Given the description of an element on the screen output the (x, y) to click on. 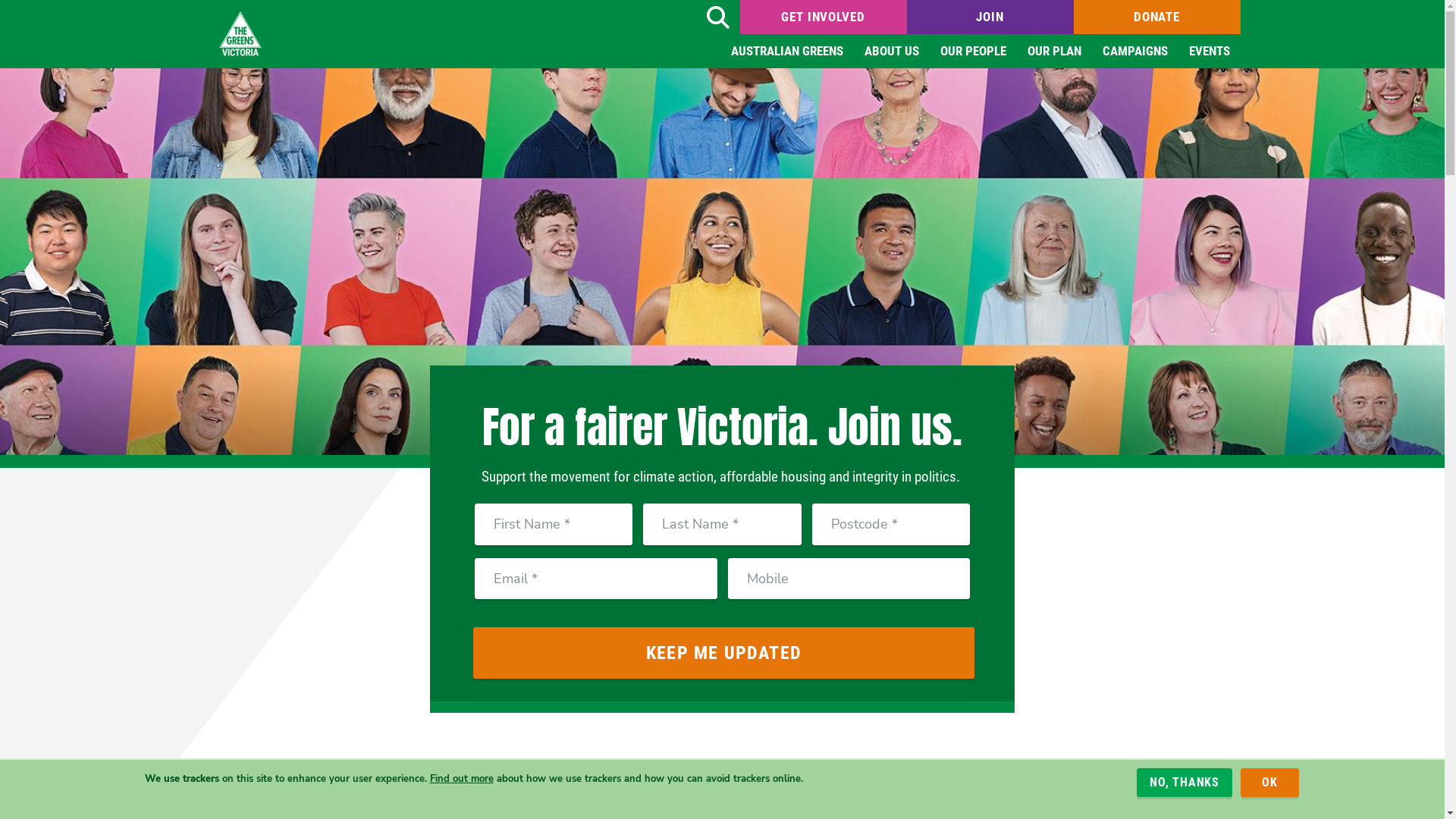
Find out more Element type: text (460, 778)
EVENTS Element type: text (1209, 51)
ABOUT US Element type: text (891, 51)
Keep me updated Element type: text (724, 652)
CAMPAIGNS Element type: text (1135, 51)
JOIN Element type: text (989, 17)
GET INVOLVED Element type: text (823, 17)
DONATE Element type: text (1156, 17)
OUR PEOPLE Element type: text (972, 51)
OUR PLAN Element type: text (1053, 51)
Skip to main content Element type: text (0, 0)
AUSTRALIAN GREENS Element type: text (786, 51)
NO, THANKS Element type: text (1184, 782)
Search Element type: text (716, 17)
OK Element type: text (1269, 782)
